Given the description of an element on the screen output the (x, y) to click on. 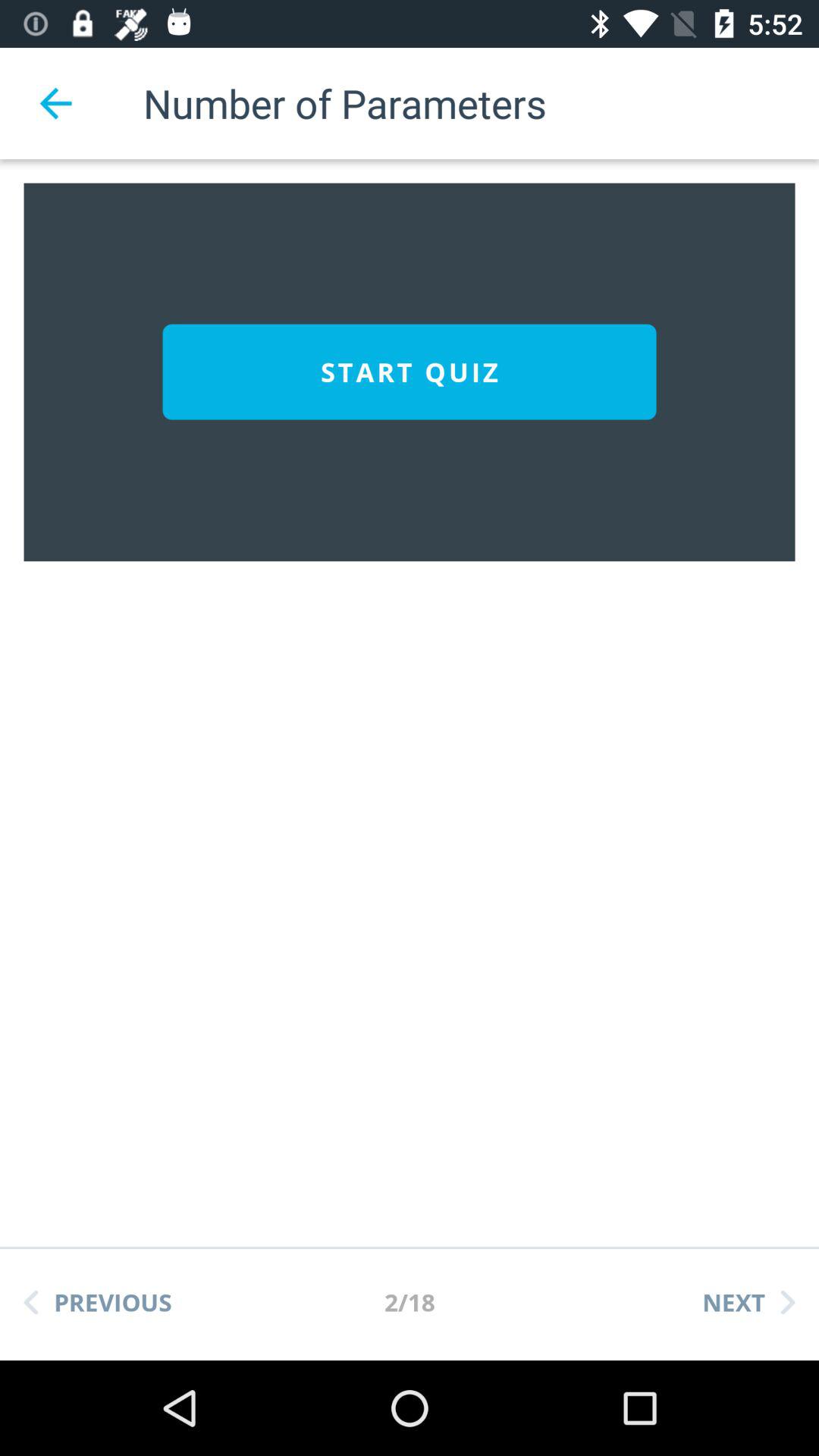
choose the icon next to 2/18 item (97, 1302)
